Given the description of an element on the screen output the (x, y) to click on. 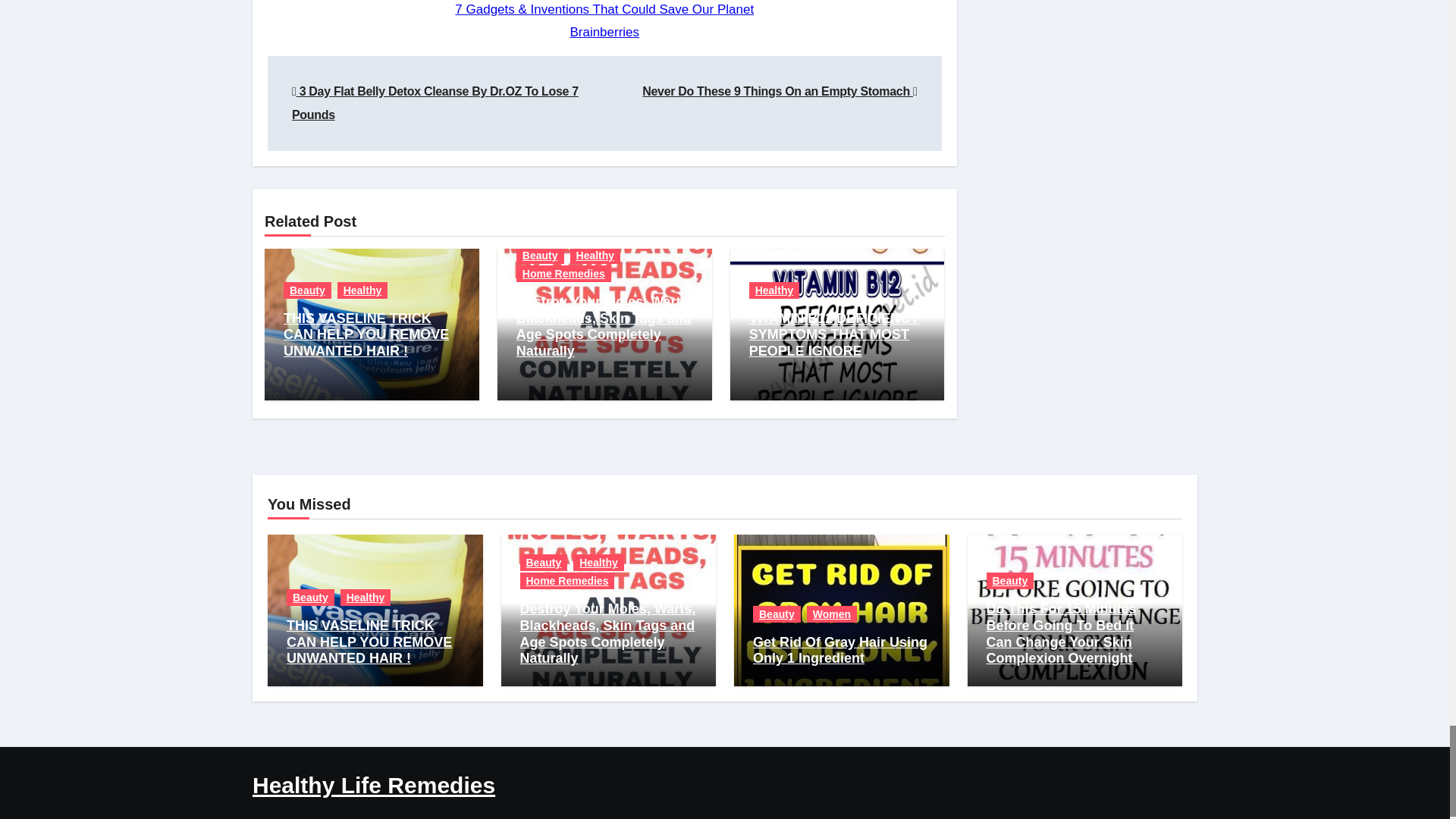
Beauty (310, 597)
Healthy (774, 289)
Healthy (595, 255)
Beauty (543, 562)
VITAMIN B12 DEFICIENCY SYMPTOMS THAT MOST PEOPLE IGNORE (834, 334)
THIS VASELINE TRICK CAN HELP YOU REMOVE UNWANTED HAIR ! (365, 334)
Beauty (307, 289)
Beauty (540, 255)
Healthy (362, 289)
